Given the description of an element on the screen output the (x, y) to click on. 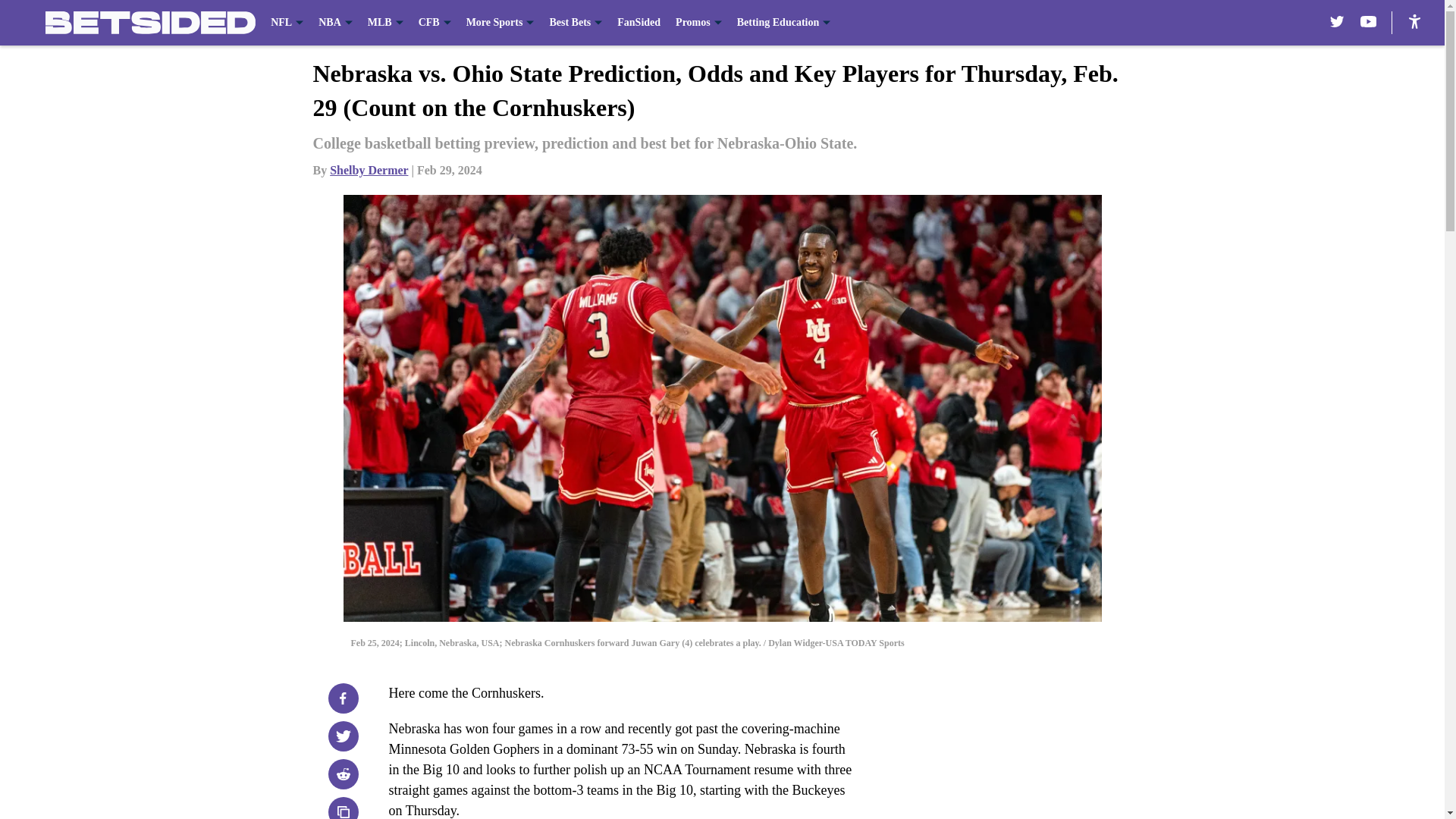
FanSided (639, 22)
CFB (435, 22)
MLB (385, 22)
NBA (335, 22)
NFL (286, 22)
